Given the description of an element on the screen output the (x, y) to click on. 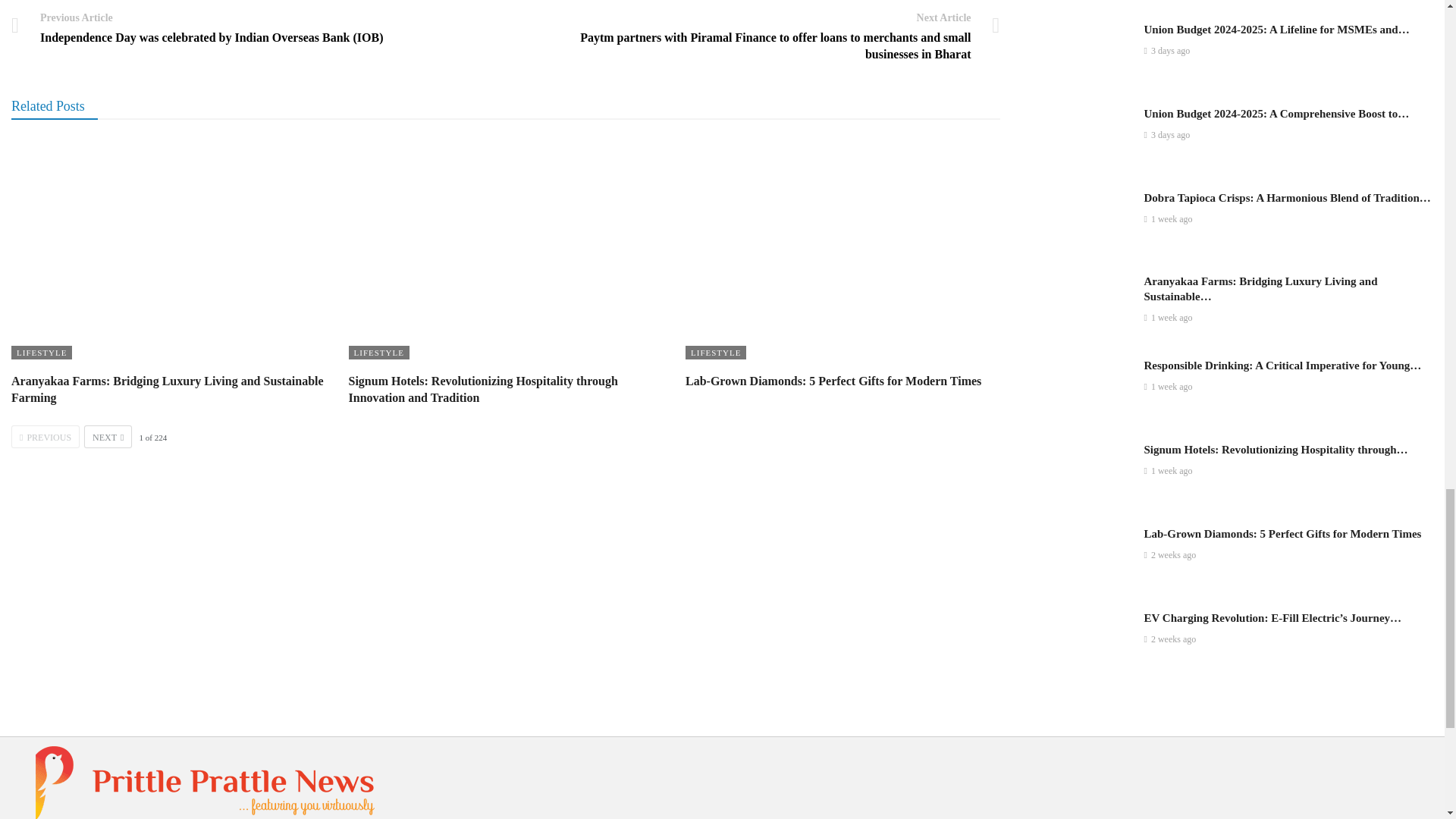
Next (108, 436)
Previous (45, 436)
Lab-Grown Diamonds: 5 Perfect Gifts for Modern Times (842, 249)
Lab-Grown Diamonds: 5 Perfect Gifts for Modern Times (833, 380)
